Given the description of an element on the screen output the (x, y) to click on. 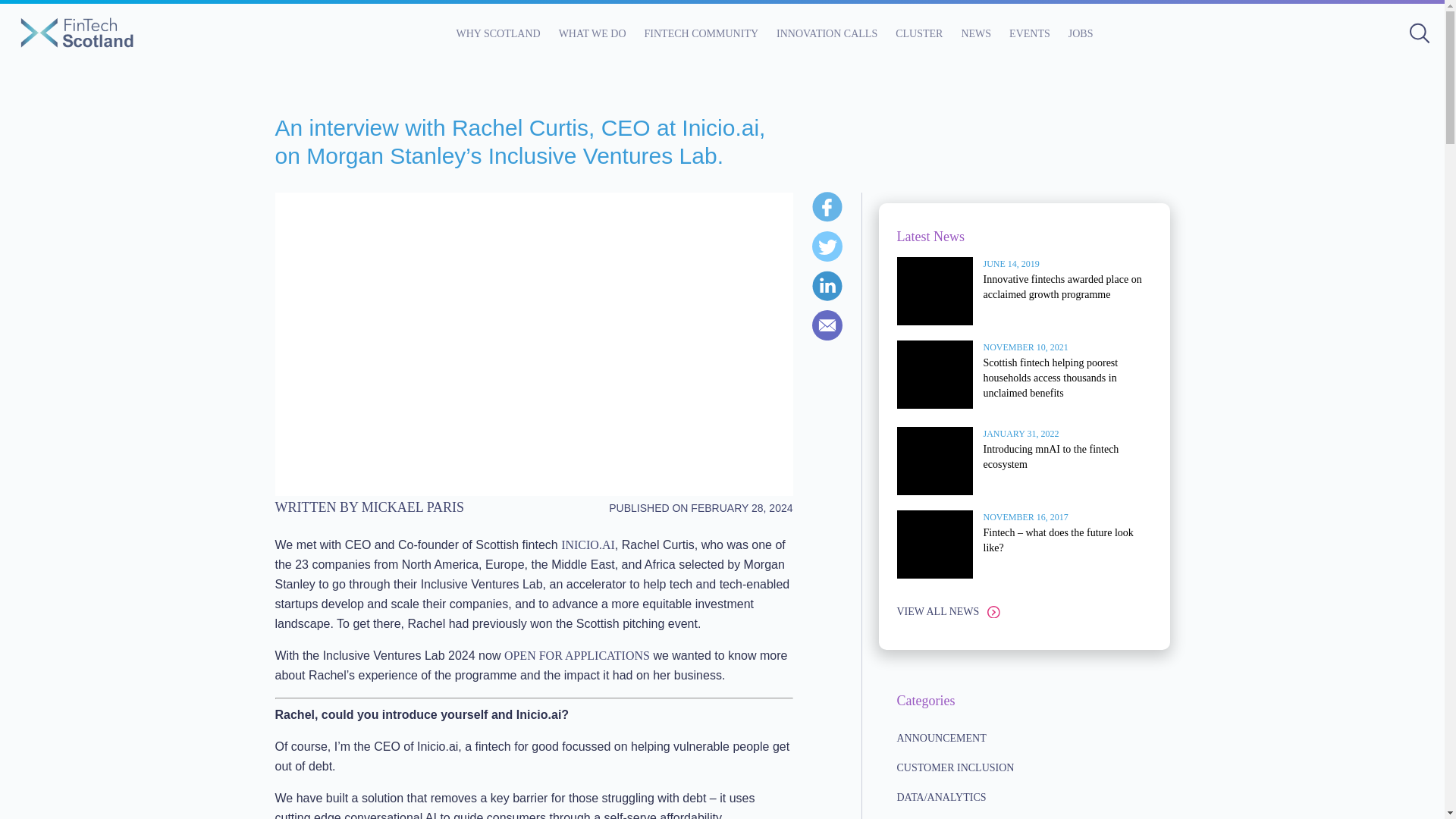
INNOVATION CALLS (826, 33)
NEWS (975, 33)
FINTECH COMMUNITY (701, 33)
WHY SCOTLAND (498, 33)
JOBS (1080, 33)
CLUSTER (918, 33)
EVENTS (1029, 33)
WHAT WE DO (592, 33)
